Given the description of an element on the screen output the (x, y) to click on. 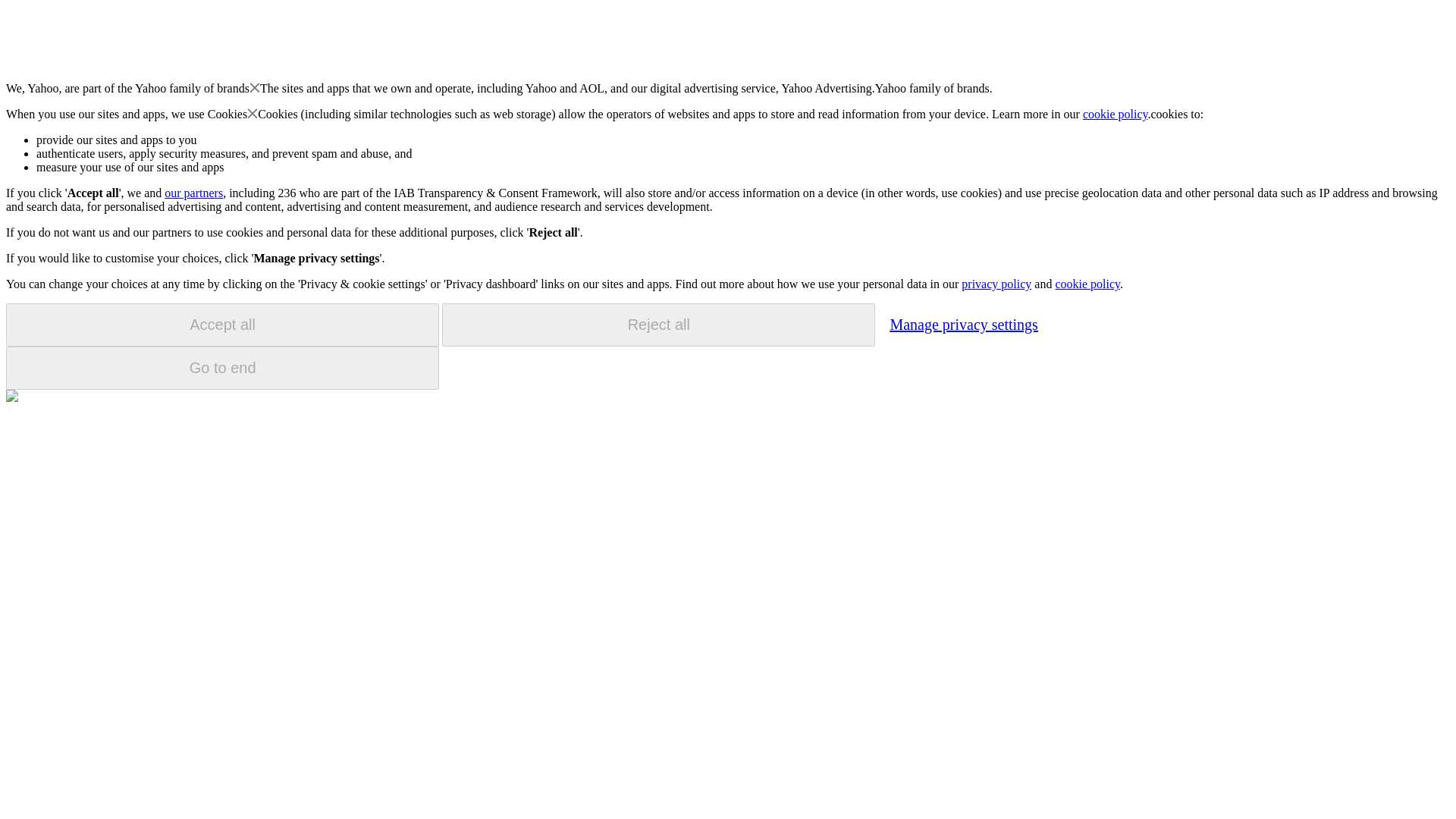
Manage privacy settings (963, 323)
privacy policy (995, 283)
Reject all (658, 324)
cookie policy (1115, 113)
cookie policy (1086, 283)
Accept all (222, 324)
Go to end (222, 367)
our partners (193, 192)
